Given the description of an element on the screen output the (x, y) to click on. 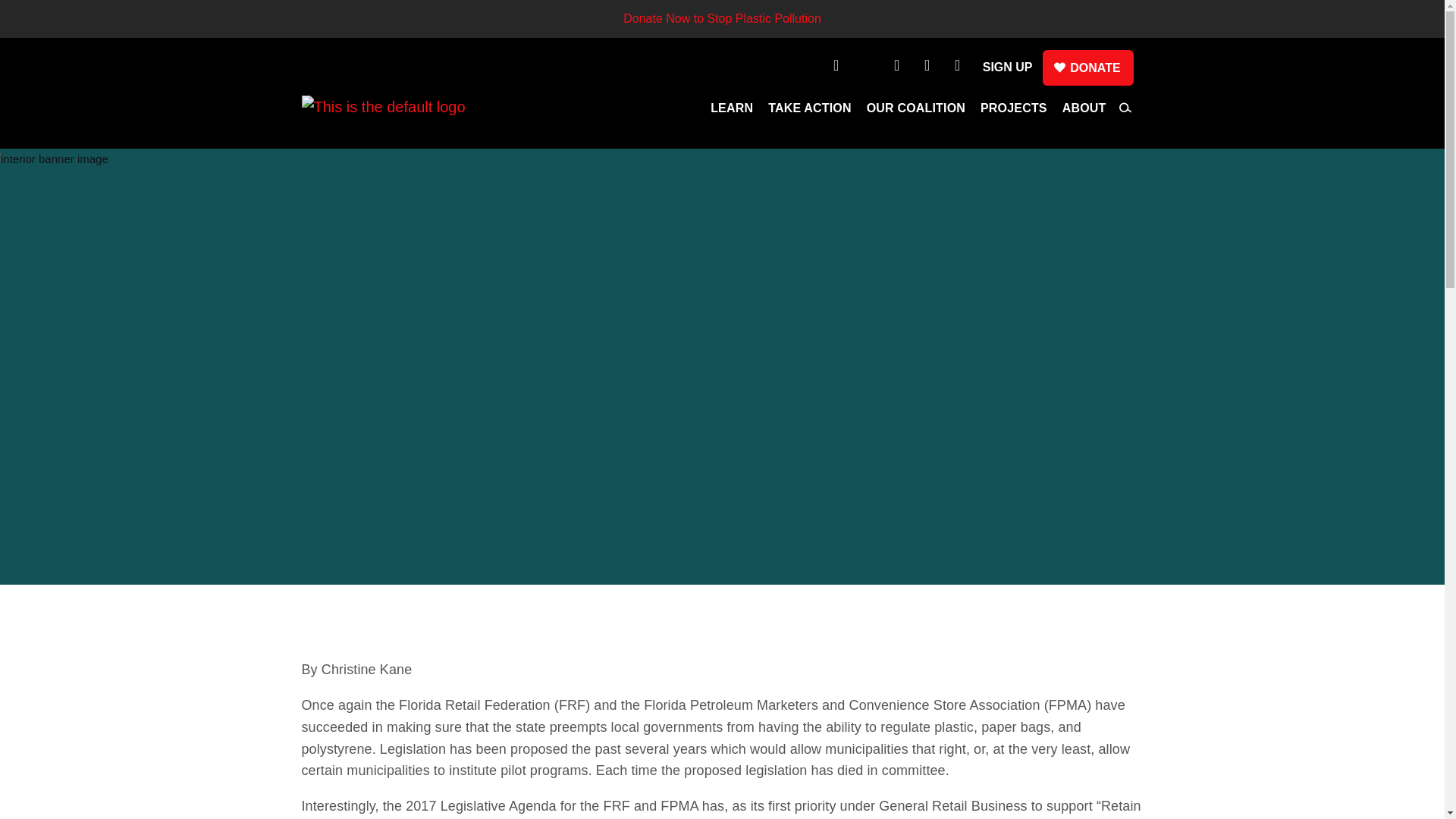
TAKE ACTION (809, 111)
Take Action (809, 111)
OUR COALITION (915, 111)
Our Coalition (915, 111)
SIGN UP (1007, 66)
PROJECTS (1012, 111)
DONATE (1087, 67)
Donate Now to Stop Plastic Pollution (721, 18)
Projects (1012, 111)
